Given the description of an element on the screen output the (x, y) to click on. 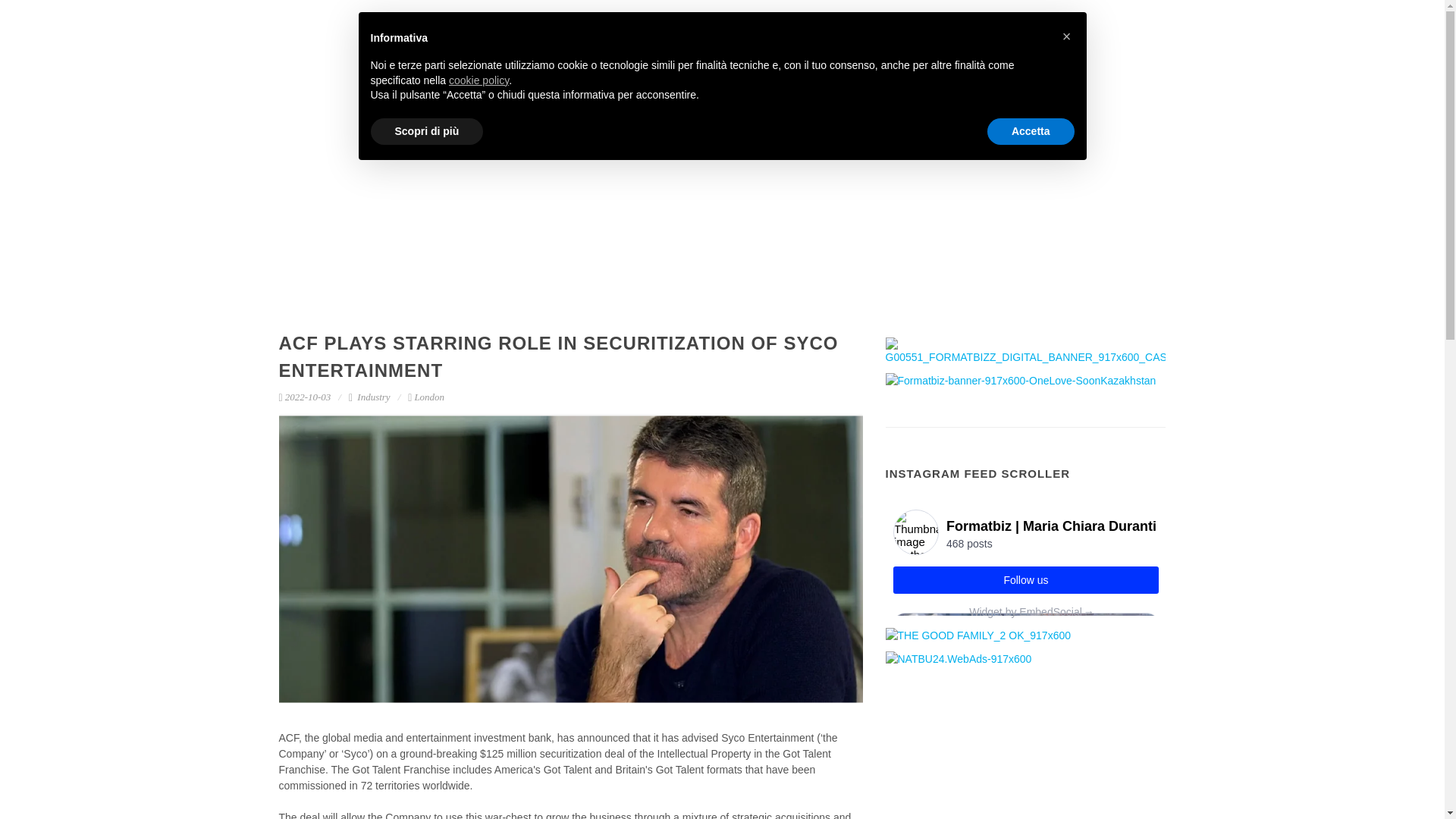
EmbedSocial Universal Widget (1025, 558)
Widget by EmbedSocial (1025, 611)
Industry (373, 396)
London (425, 396)
